Given the description of an element on the screen output the (x, y) to click on. 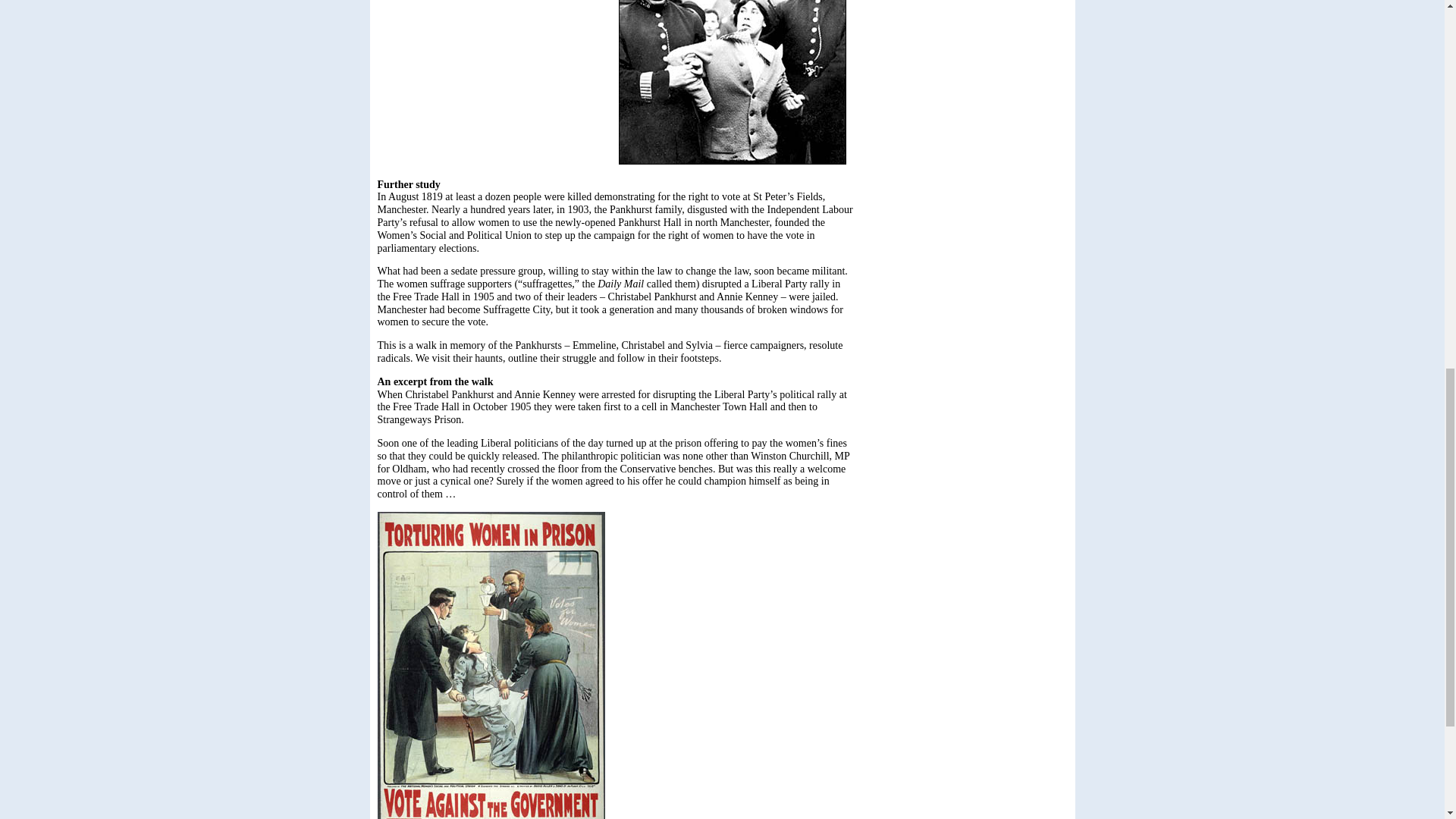
Suffragettes 1 (731, 82)
